Given the description of an element on the screen output the (x, y) to click on. 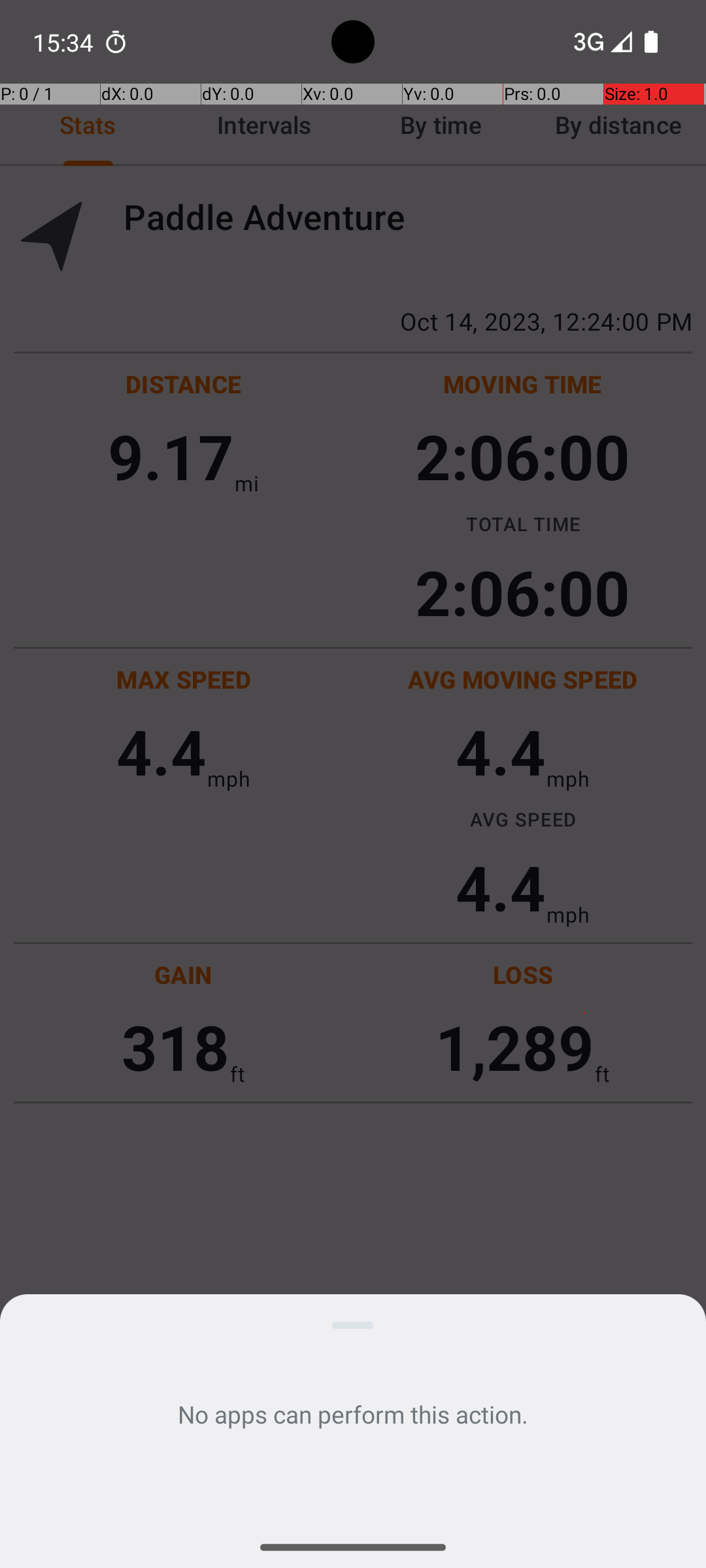
No apps can perform this action. Element type: android.widget.TextView (352, 1413)
